Given the description of an element on the screen output the (x, y) to click on. 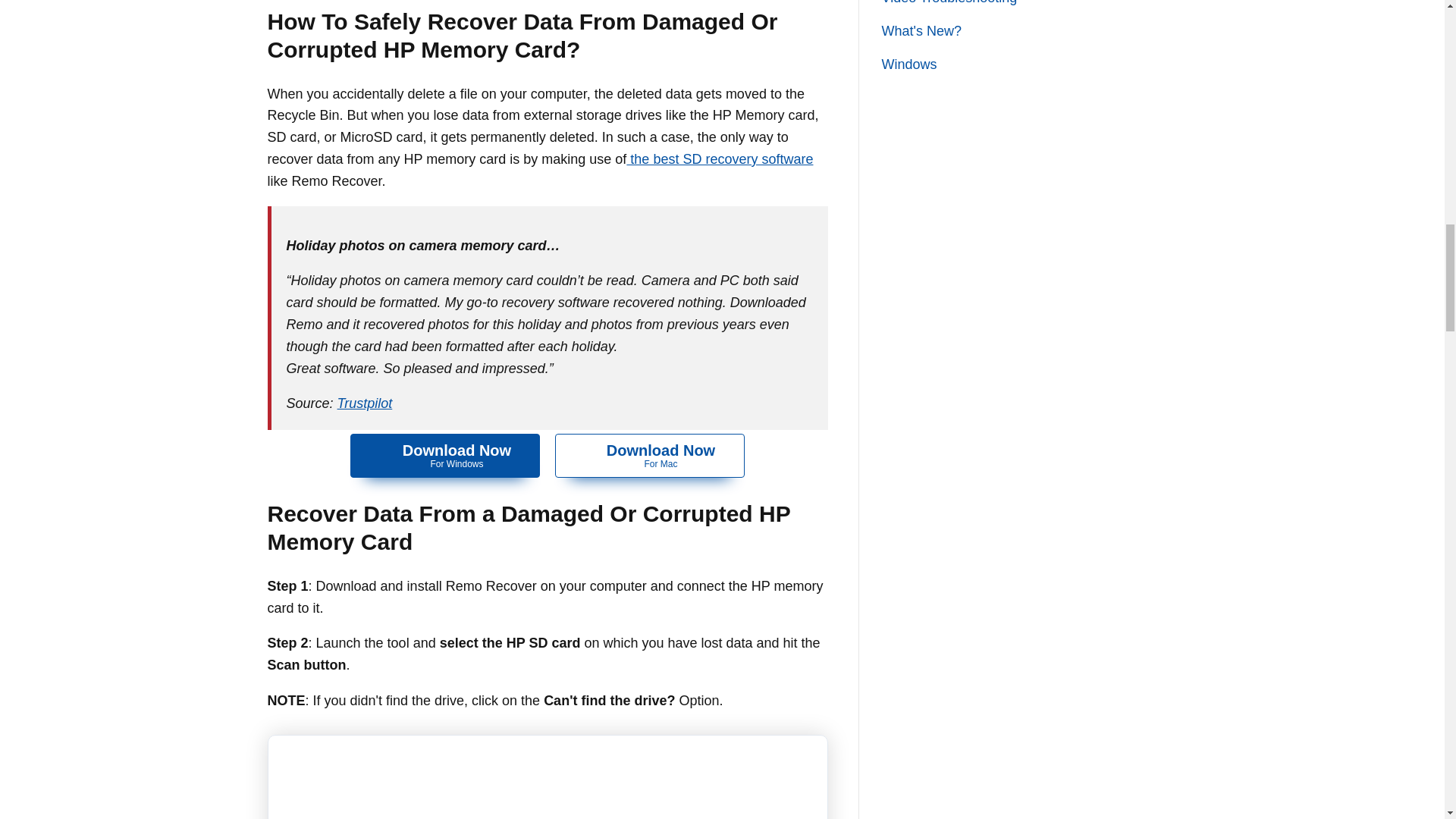
Trustpilot (445, 455)
Windows (649, 455)
What's New? (365, 403)
the best SD recovery software (908, 64)
Video Troubleshooting (920, 30)
